Given the description of an element on the screen output the (x, y) to click on. 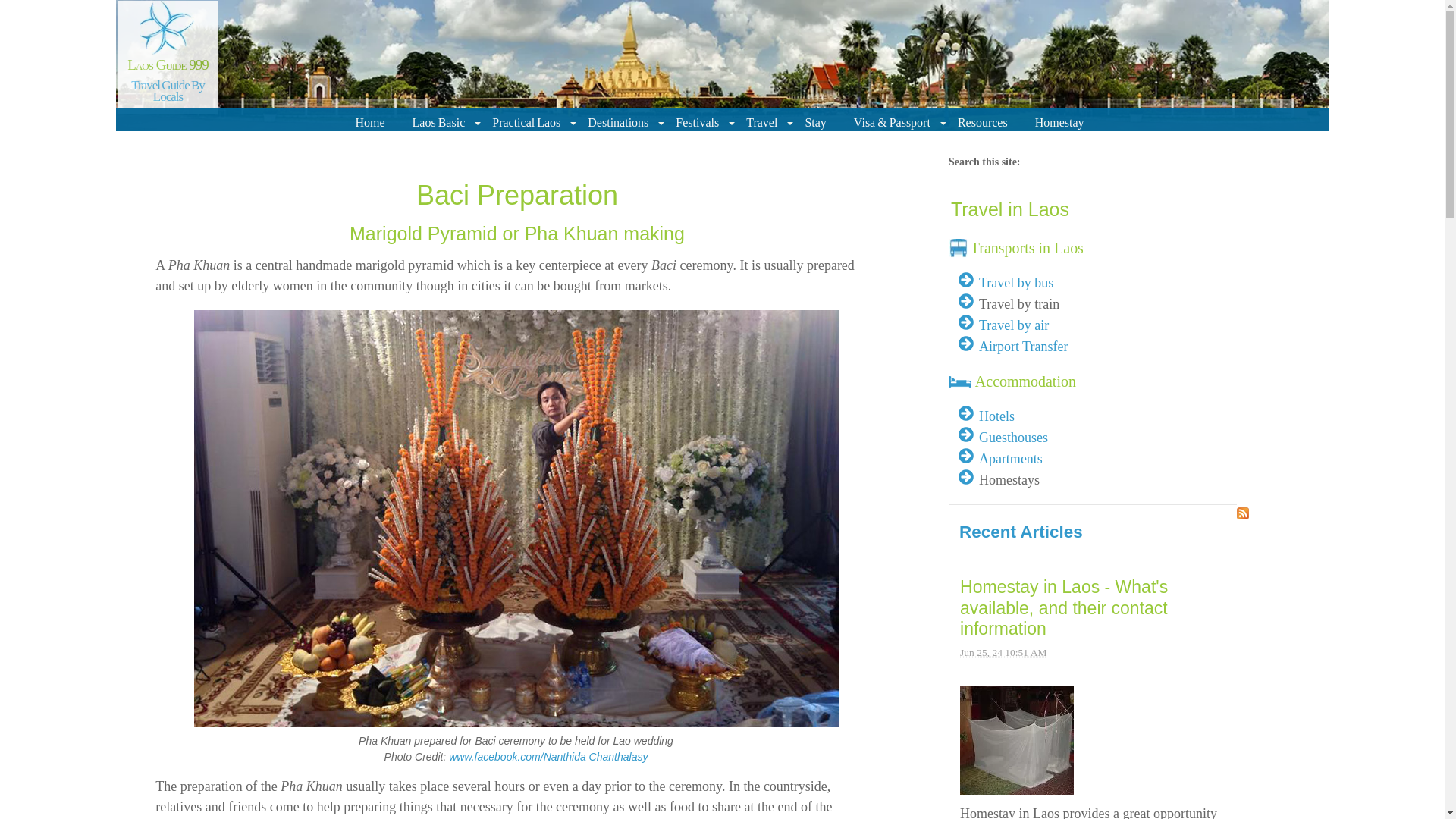
Resources (986, 122)
Stay (818, 122)
2024-06-25T10:51:47-0400 (1002, 651)
Homestay (1062, 122)
Home (372, 122)
Laos Guide 999 (168, 64)
